Given the description of an element on the screen output the (x, y) to click on. 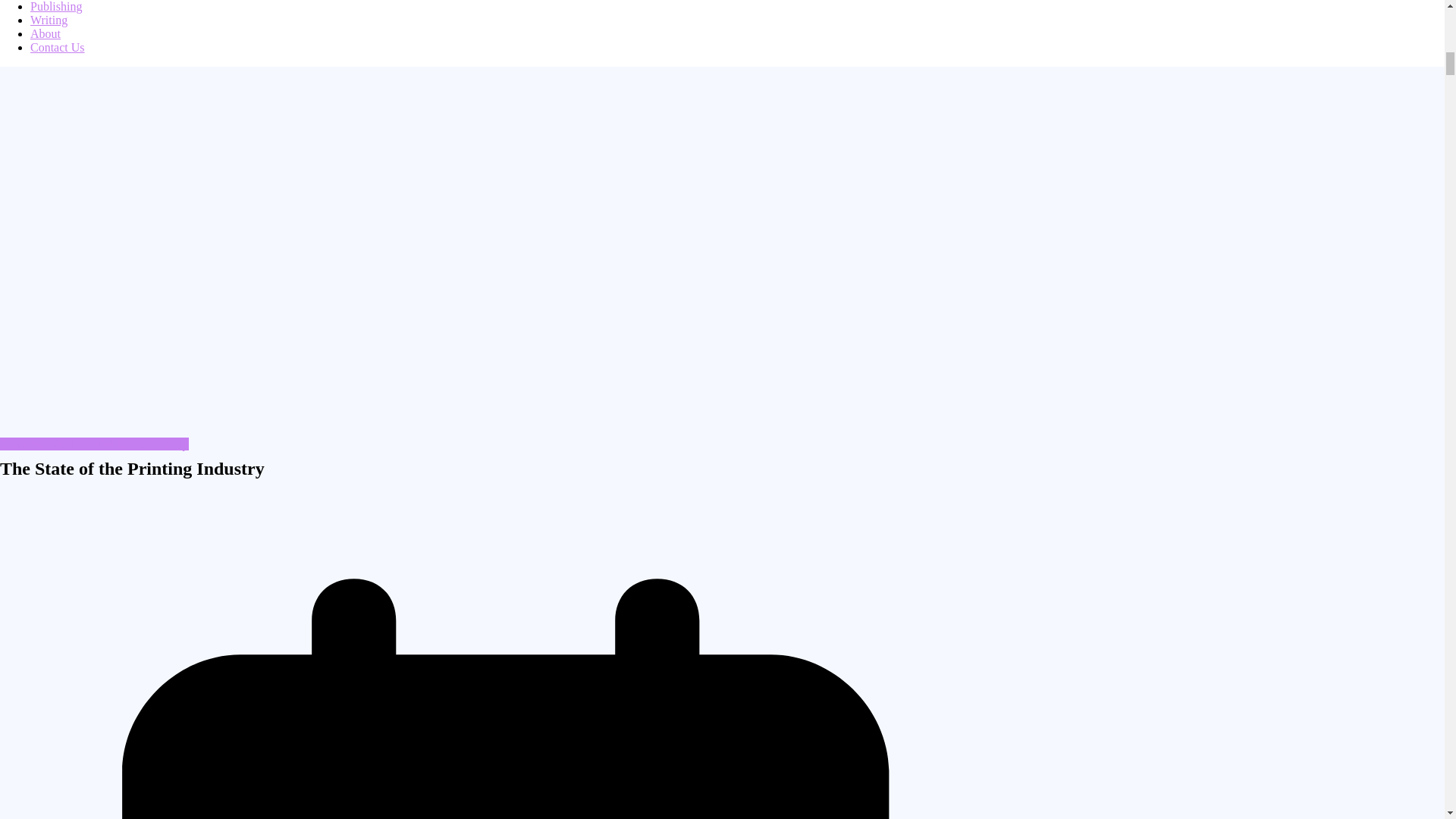
Contact Us (57, 47)
Publishing (55, 6)
Writing (48, 19)
From the Wire (34, 443)
About (45, 33)
News (83, 443)
Publishers Weekly (144, 443)
